Given the description of an element on the screen output the (x, y) to click on. 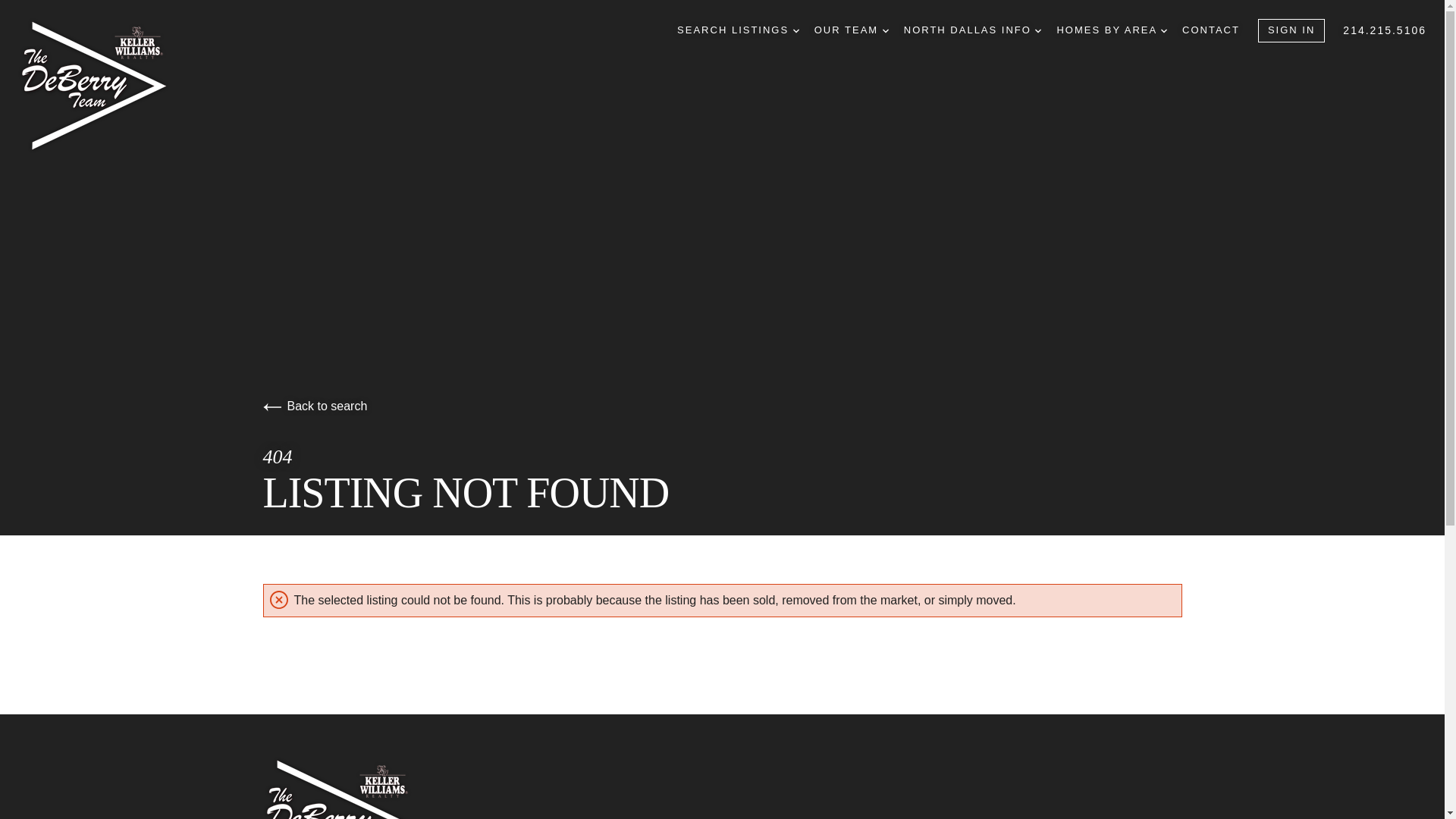
DROPDOWN ARROW (1038, 30)
HOMES BY AREA DROPDOWN ARROW (1112, 30)
DROPDOWN ARROW (1163, 30)
OUR TEAM DROPDOWN ARROW (850, 30)
DROPDOWN ARROW (885, 30)
SEARCH LISTINGS DROPDOWN ARROW (738, 30)
DROPDOWN ARROW (796, 30)
NORTH DALLAS INFO DROPDOWN ARROW (973, 30)
